Given the description of an element on the screen output the (x, y) to click on. 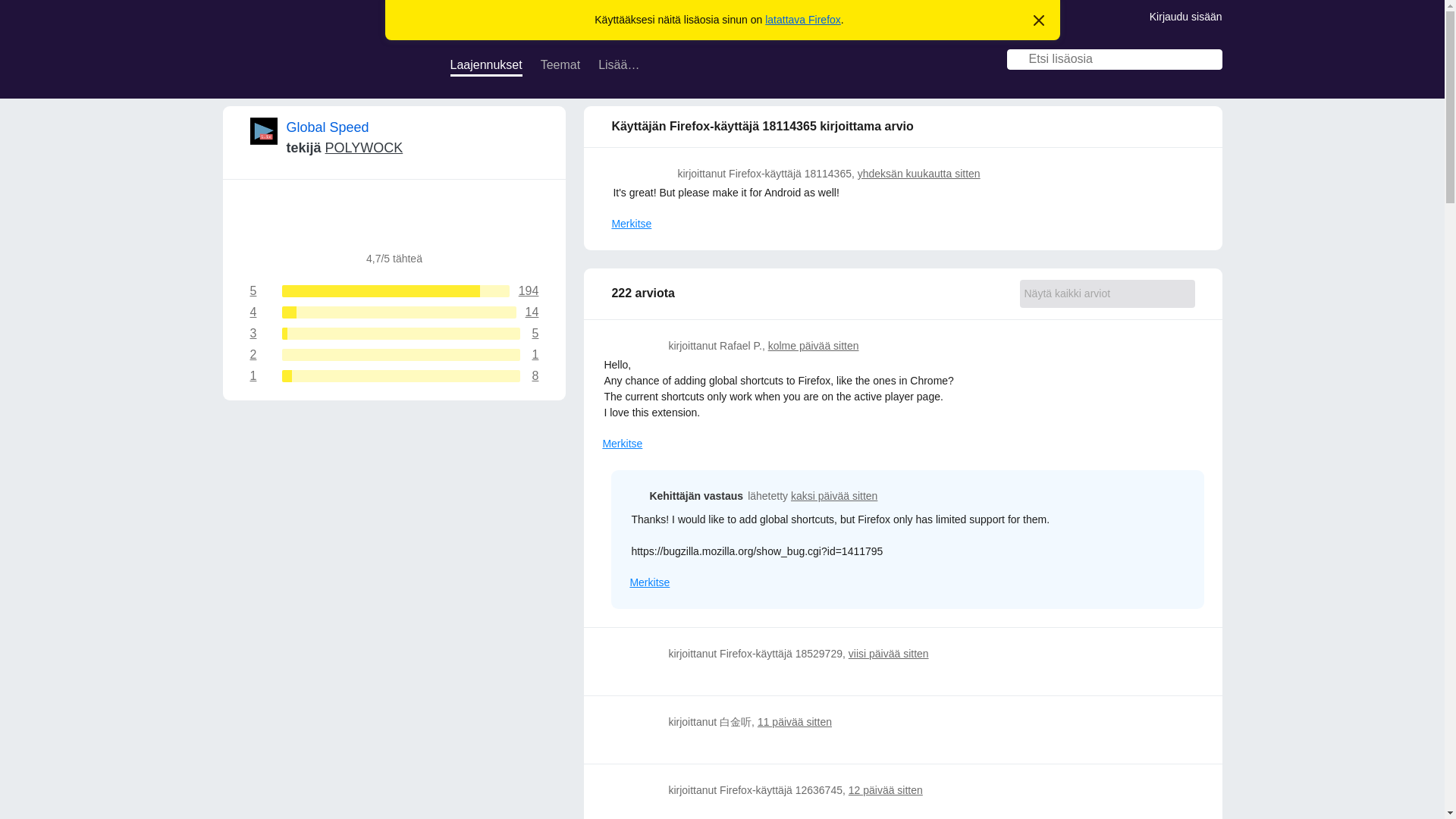
Global Speed (327, 127)
Haku (394, 354)
POLYWOCK (1212, 61)
Merkitse (363, 147)
Teemat (394, 312)
Laajennukset (648, 582)
25. loka 2023, klo 15.59 (394, 291)
latattava Firefox (394, 333)
Merkitse (559, 66)
Merkitse (485, 66)
